Given the description of an element on the screen output the (x, y) to click on. 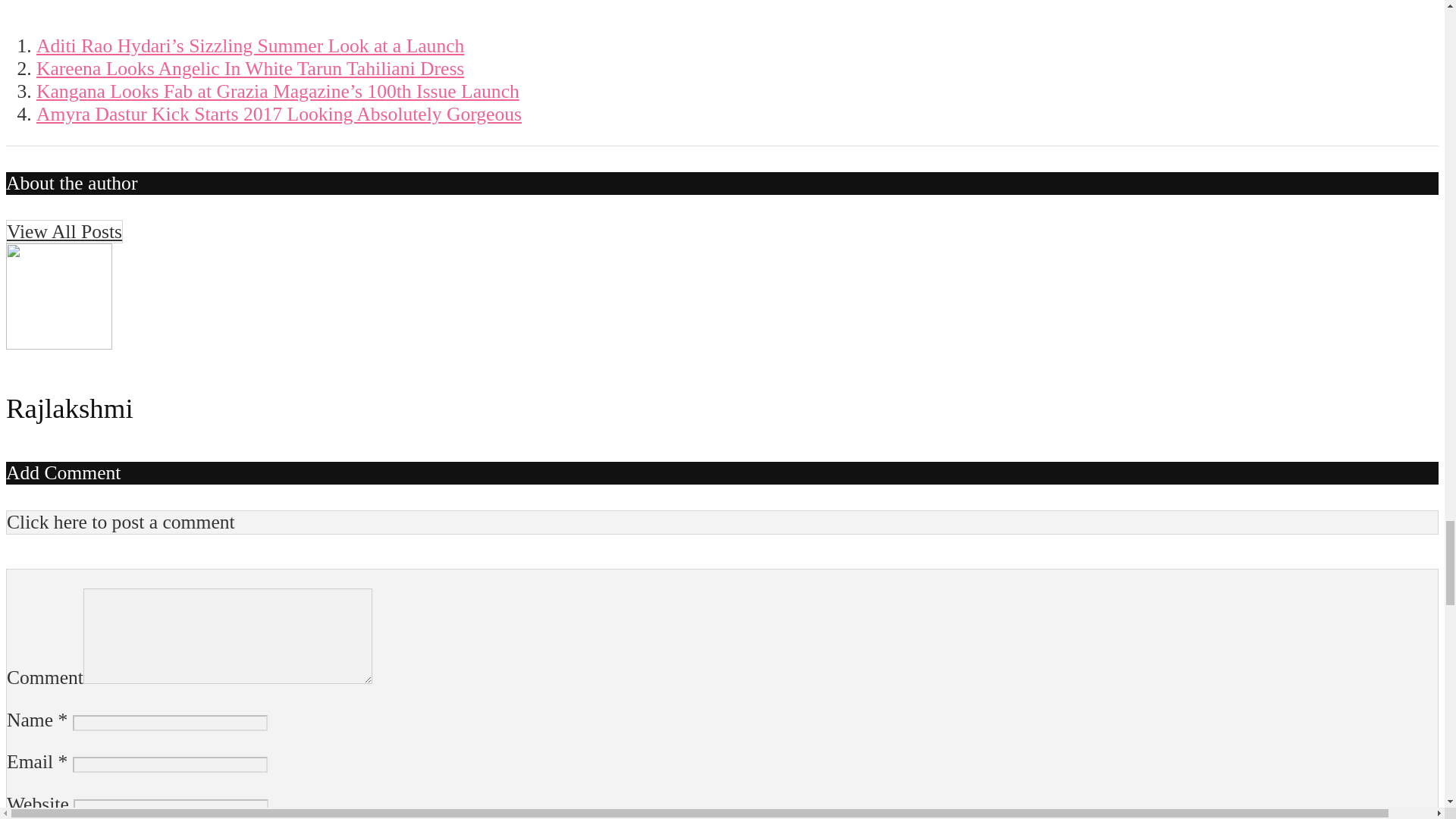
Amyra Dastur Kick Starts 2017 Looking Absolutely Gorgeous (278, 114)
Kareena Looks Angelic In White Tarun Tahiliani Dress (250, 68)
